Given the description of an element on the screen output the (x, y) to click on. 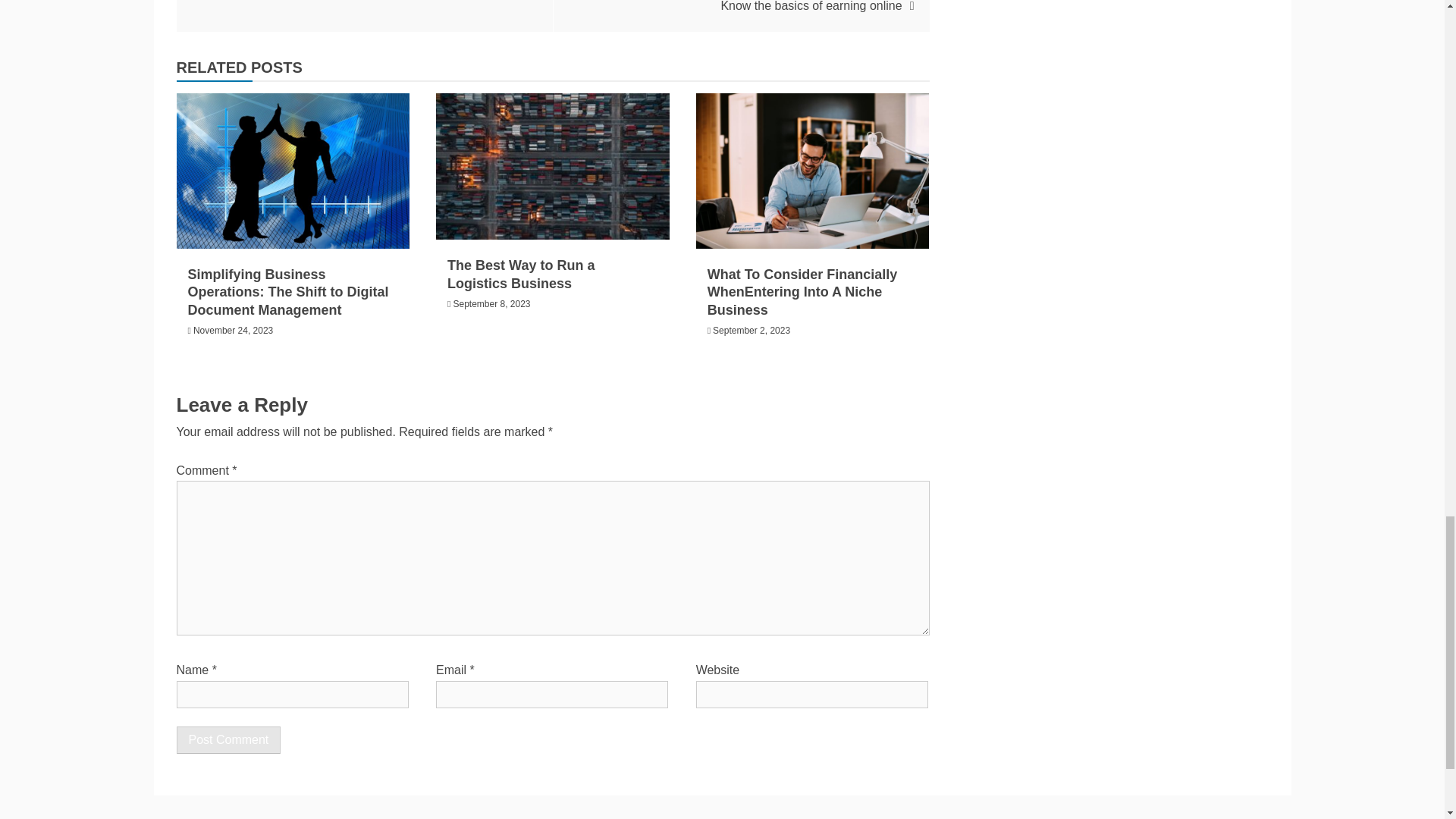
Post Comment (228, 739)
